Given the description of an element on the screen output the (x, y) to click on. 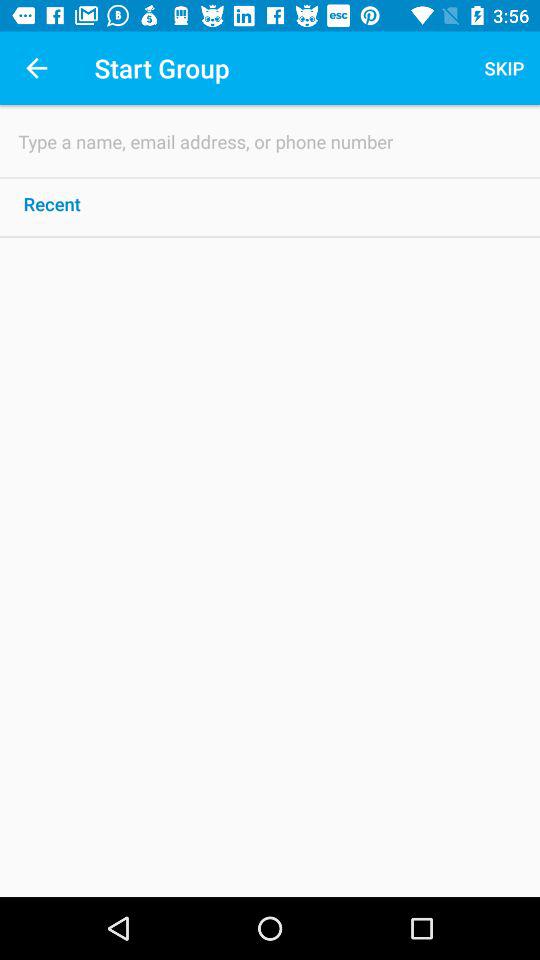
open the skip icon (504, 67)
